Given the description of an element on the screen output the (x, y) to click on. 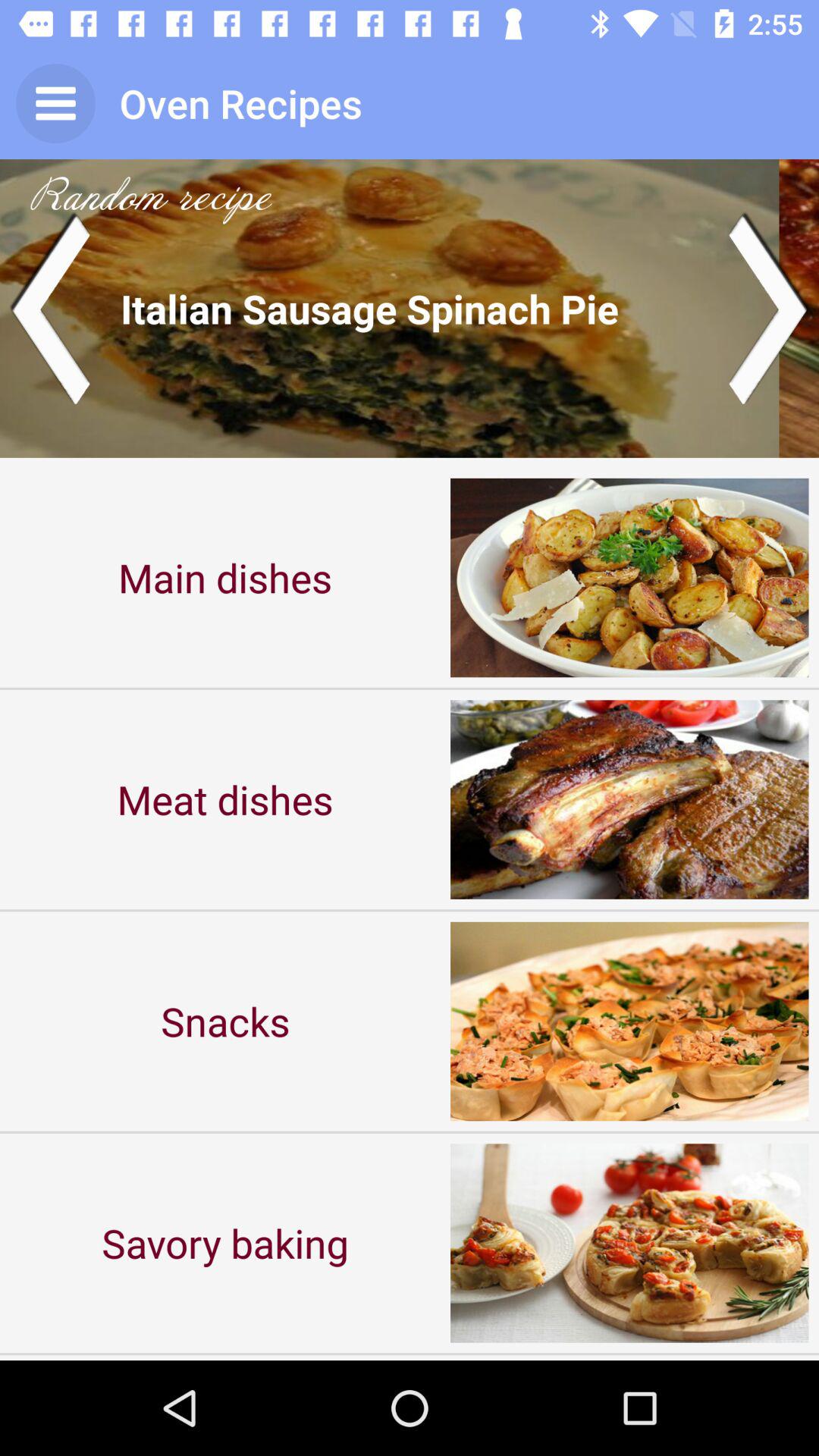
jump until the sweet baking icon (225, 1357)
